Given the description of an element on the screen output the (x, y) to click on. 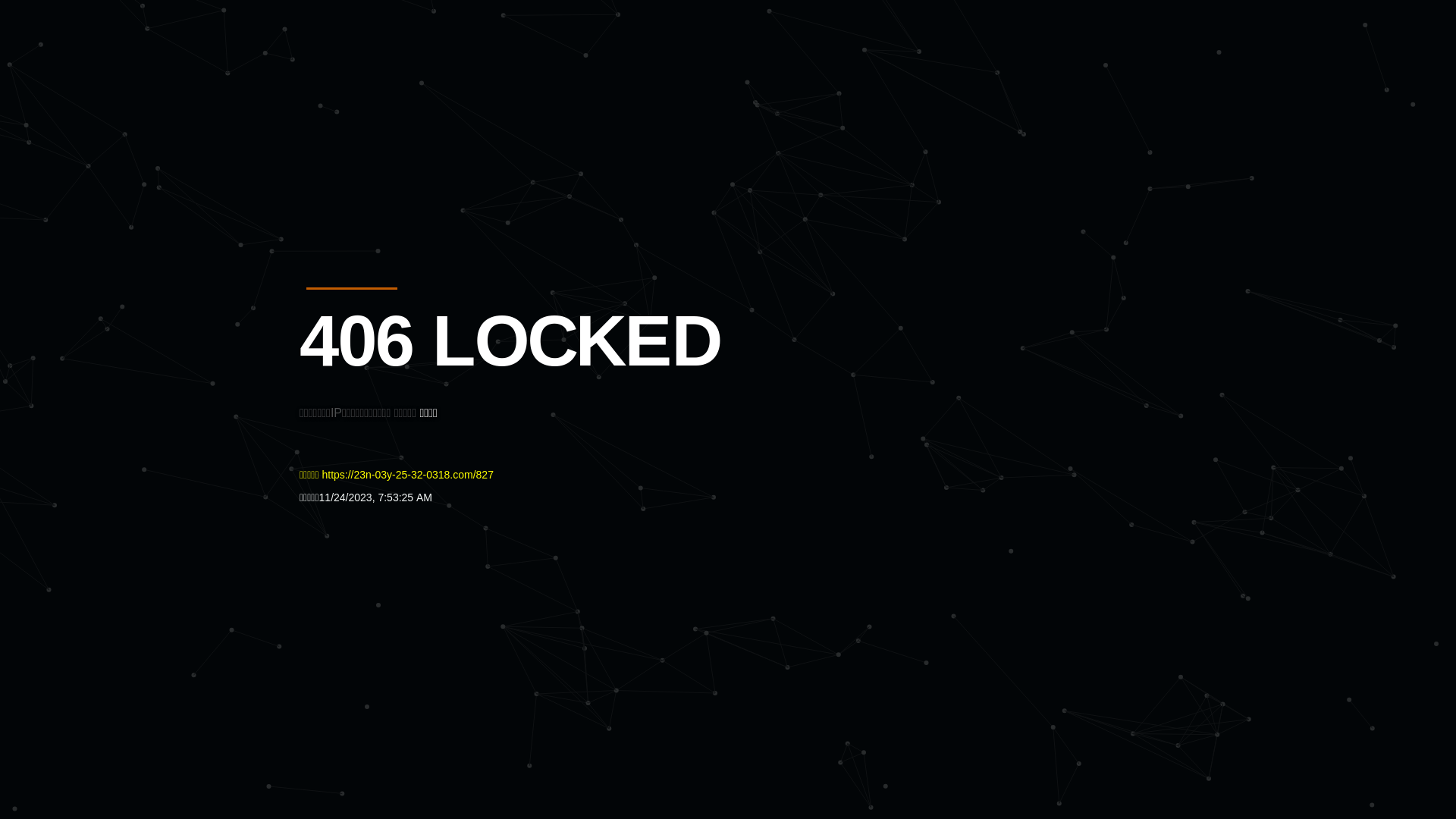
Quatro Element type: text (410, 86)
